Given the description of an element on the screen output the (x, y) to click on. 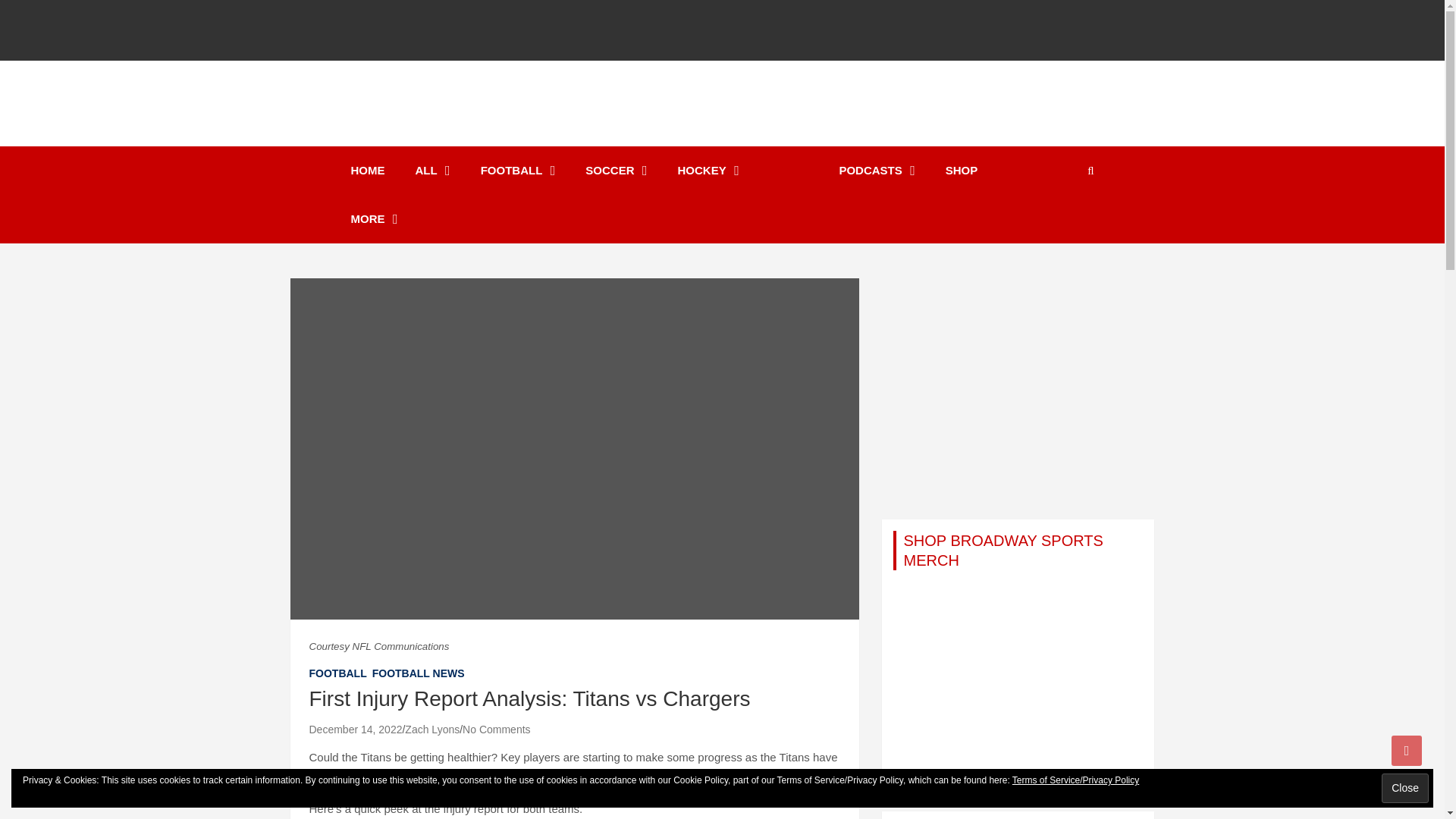
ALL (432, 170)
FOOTBALL (517, 170)
HOME (366, 170)
Close (1404, 788)
Go to Top (1406, 750)
First Injury Report Analysis: Titans vs Chargers (355, 729)
